Given the description of an element on the screen output the (x, y) to click on. 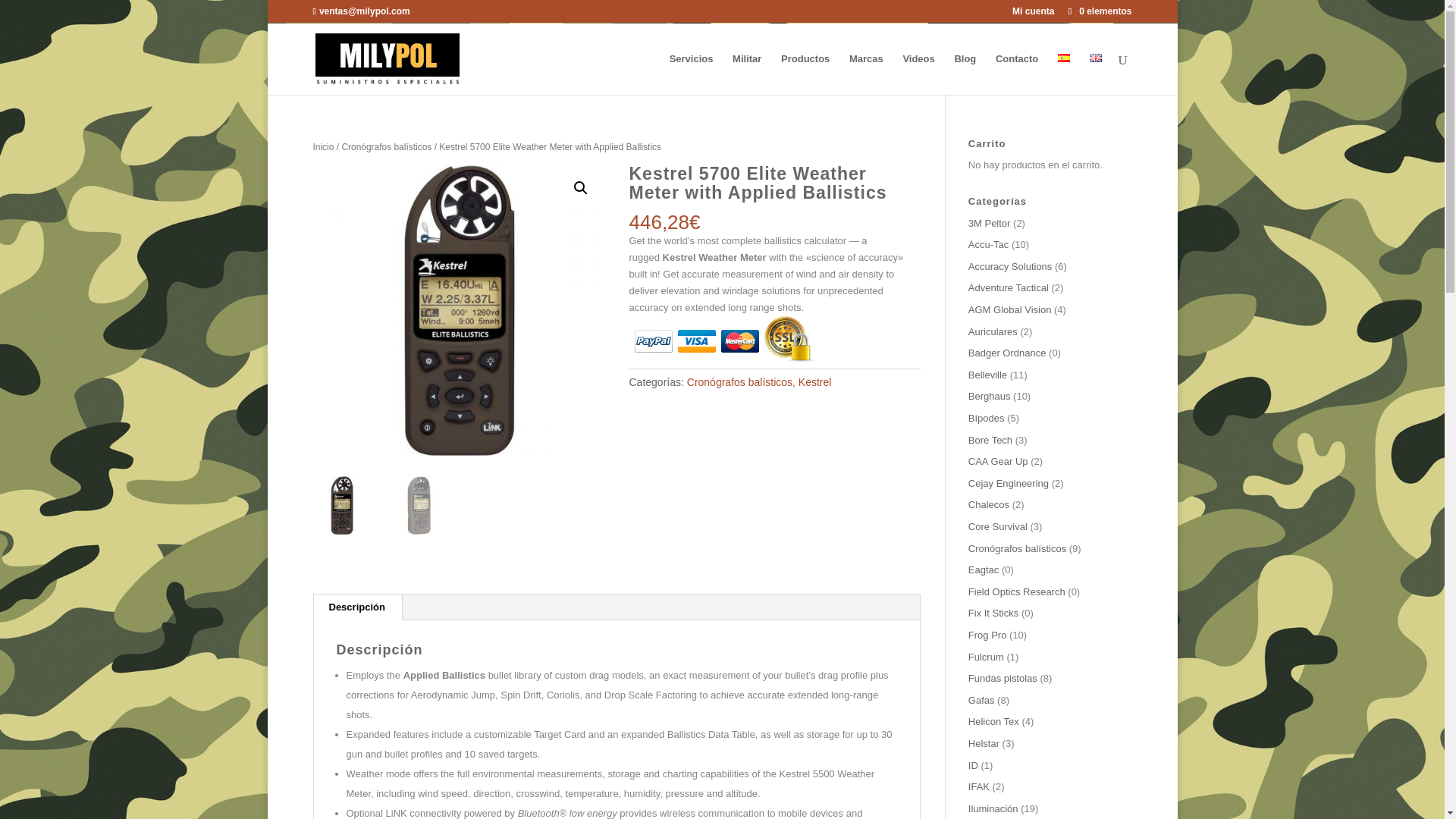
Productos (804, 74)
3M Peltor (989, 223)
Contacto (1016, 74)
Kestrel (814, 381)
Servicios (691, 74)
Accu-Tac (988, 244)
0 elementos (1098, 10)
Inicio (323, 146)
Mi cuenta (1032, 14)
English (1094, 58)
